Given the description of an element on the screen output the (x, y) to click on. 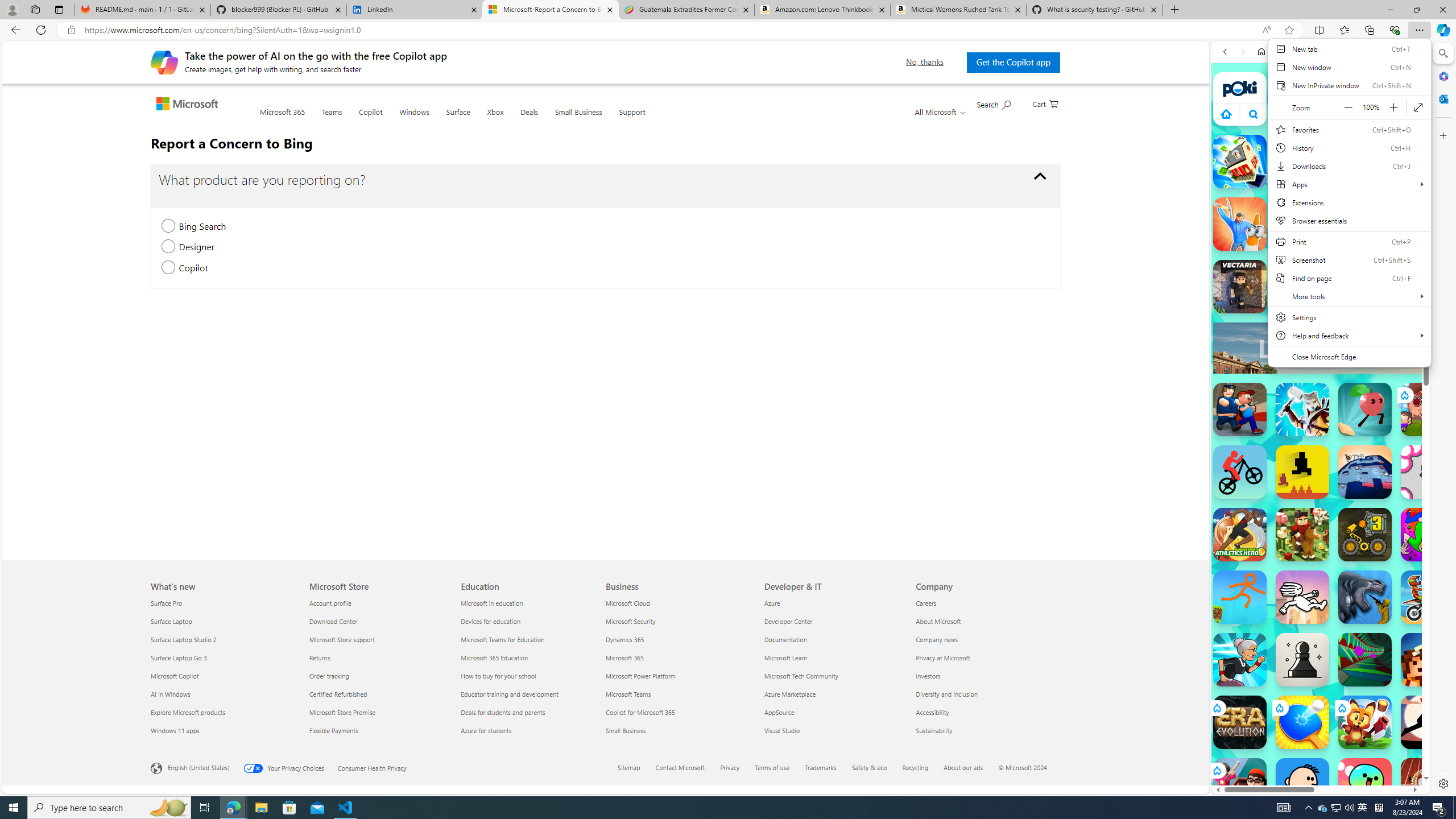
Contact Microsoft (679, 766)
Microsoft 365 Education Education (494, 656)
Crazy Cars (1419, 574)
Simply Prop Hunt Simply Prop Hunt (1239, 223)
Microsoft in education (529, 602)
Dynamics 365 Business (625, 638)
Combat Reloaded (1348, 574)
Io Games (1320, 351)
Flexible Payments Microsoft Store (333, 729)
Deals (529, 118)
AI in Windows What's new (170, 693)
Games for Girls (1320, 406)
Class: rounded img-fluid d-block w-100 fit-cover (1433, 155)
